Given the description of an element on the screen output the (x, y) to click on. 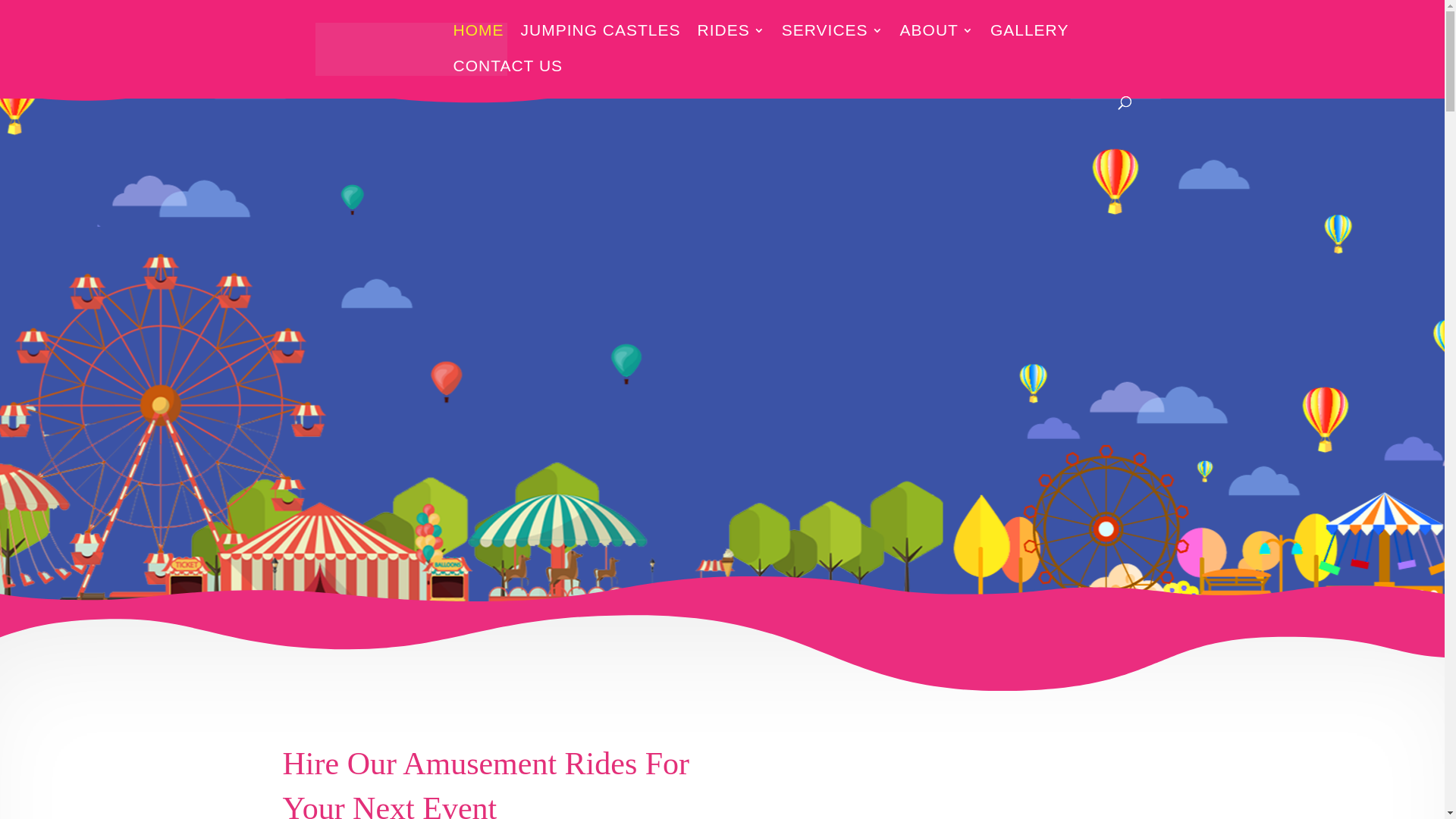
HOME Element type: text (478, 42)
GALLERY Element type: text (1029, 42)
CONTACT US Element type: text (508, 78)
RIDES Element type: text (731, 42)
ABOUT Element type: text (936, 42)
JUMPING CASTLES Element type: text (600, 42)
SERVICES Element type: text (832, 42)
